Given the description of an element on the screen output the (x, y) to click on. 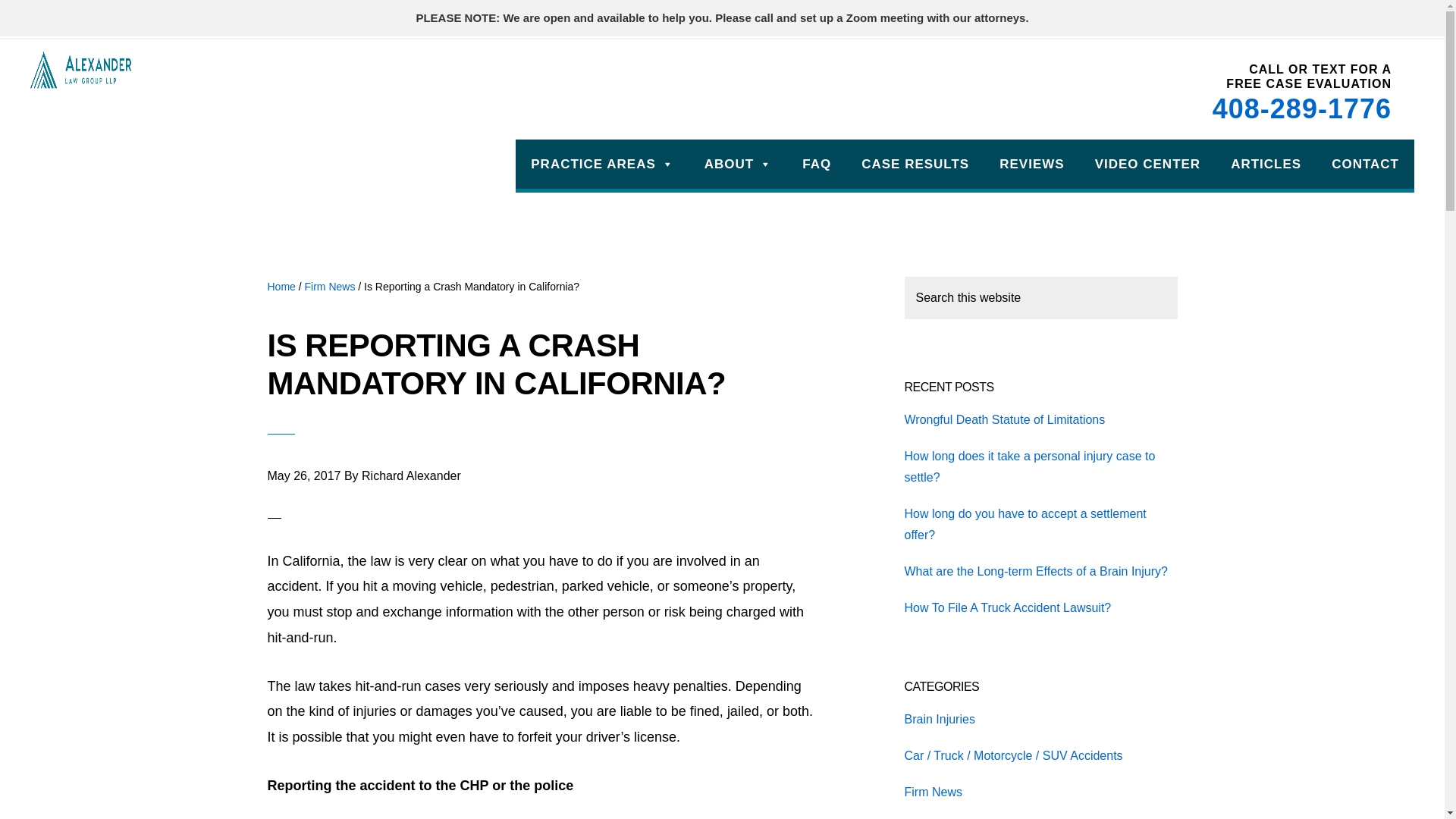
REVIEWS (1031, 164)
ARTICLES (1265, 164)
How To File A Truck Accident Lawsuit? (1007, 607)
FAQ (816, 164)
ABOUT (737, 164)
Wrongful Death Statute of Limitations (1004, 419)
How long does it take a personal injury case to settle? (1029, 466)
CASE RESULTS (914, 164)
408-289-1776 (1301, 107)
How long do you have to accept a settlement offer? (1024, 523)
Richard Alexander (411, 475)
VIDEO CENTER (1147, 164)
PRACTICE AREAS (601, 164)
What are the Long-term Effects of a Brain Injury? (1035, 571)
